Given the description of an element on the screen output the (x, y) to click on. 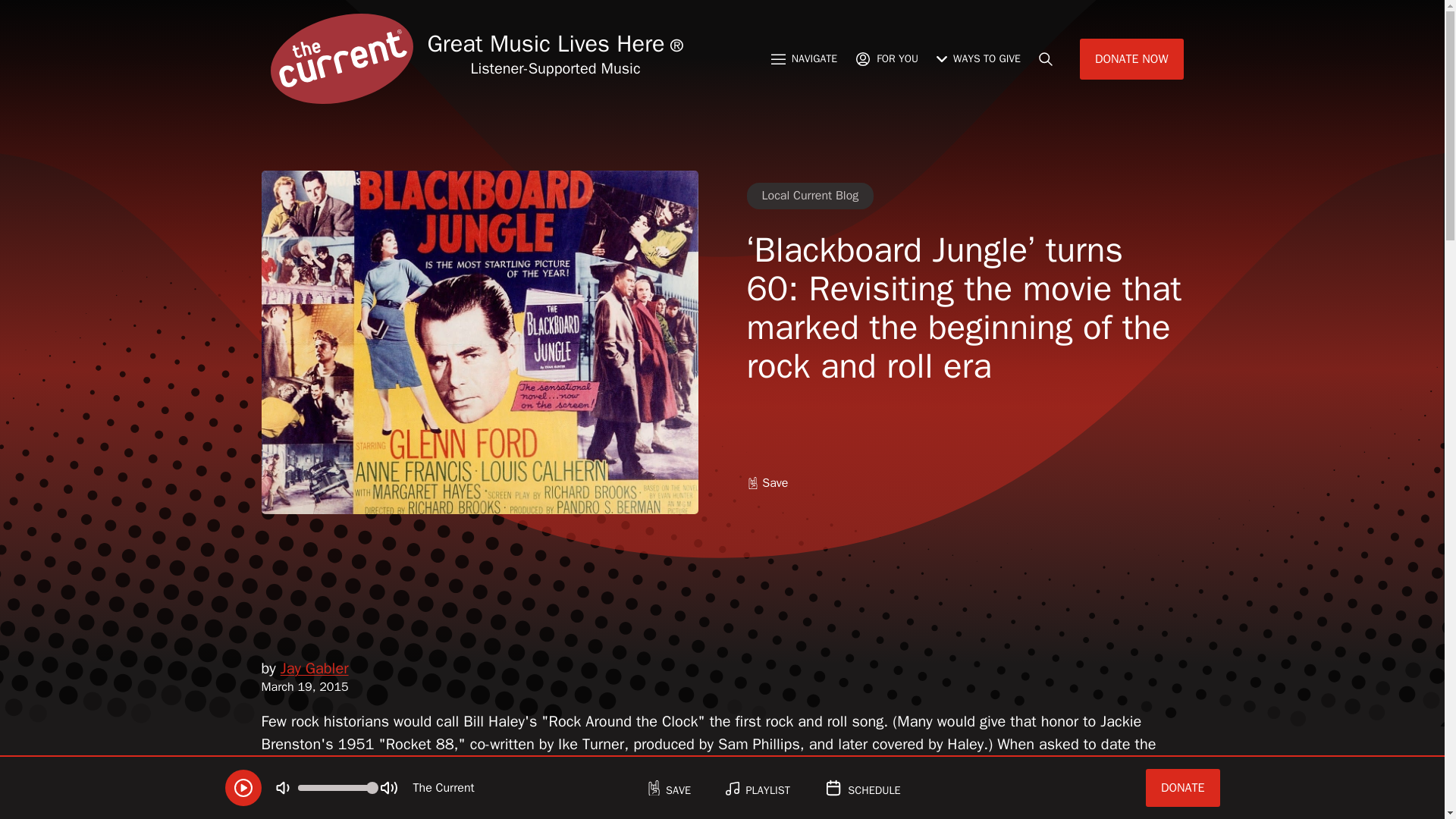
SAVE (668, 788)
DONATE NOW (1131, 58)
WAYS TO GIVE (978, 58)
3rd party ad content (721, 594)
Jay Gabler (315, 668)
PLAYLIST (756, 788)
Local Current Blog (809, 195)
FOR YOU (886, 58)
NAVIGATE (804, 58)
 Save (766, 483)
Like story (766, 483)
